Given the description of an element on the screen output the (x, y) to click on. 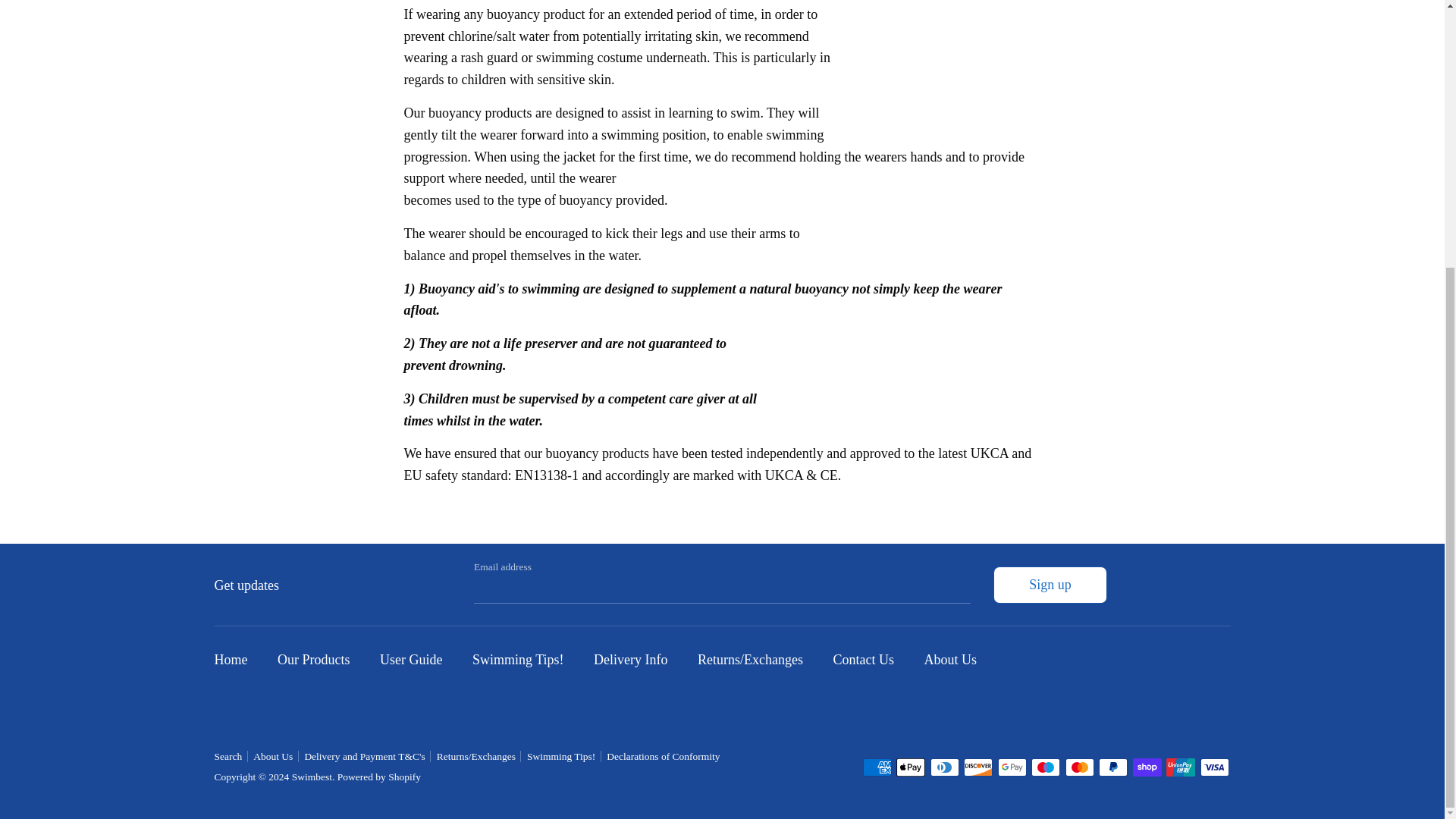
Diners Club (944, 767)
American Express (877, 767)
Shop Pay (1146, 767)
PayPal (1112, 767)
Discover (977, 767)
Mastercard (1078, 767)
Maestro (1044, 767)
Union Pay (1180, 767)
Sign up (1050, 584)
Google Pay (1011, 767)
Home (238, 661)
Apple Pay (910, 767)
Visa (1213, 767)
